Given the description of an element on the screen output the (x, y) to click on. 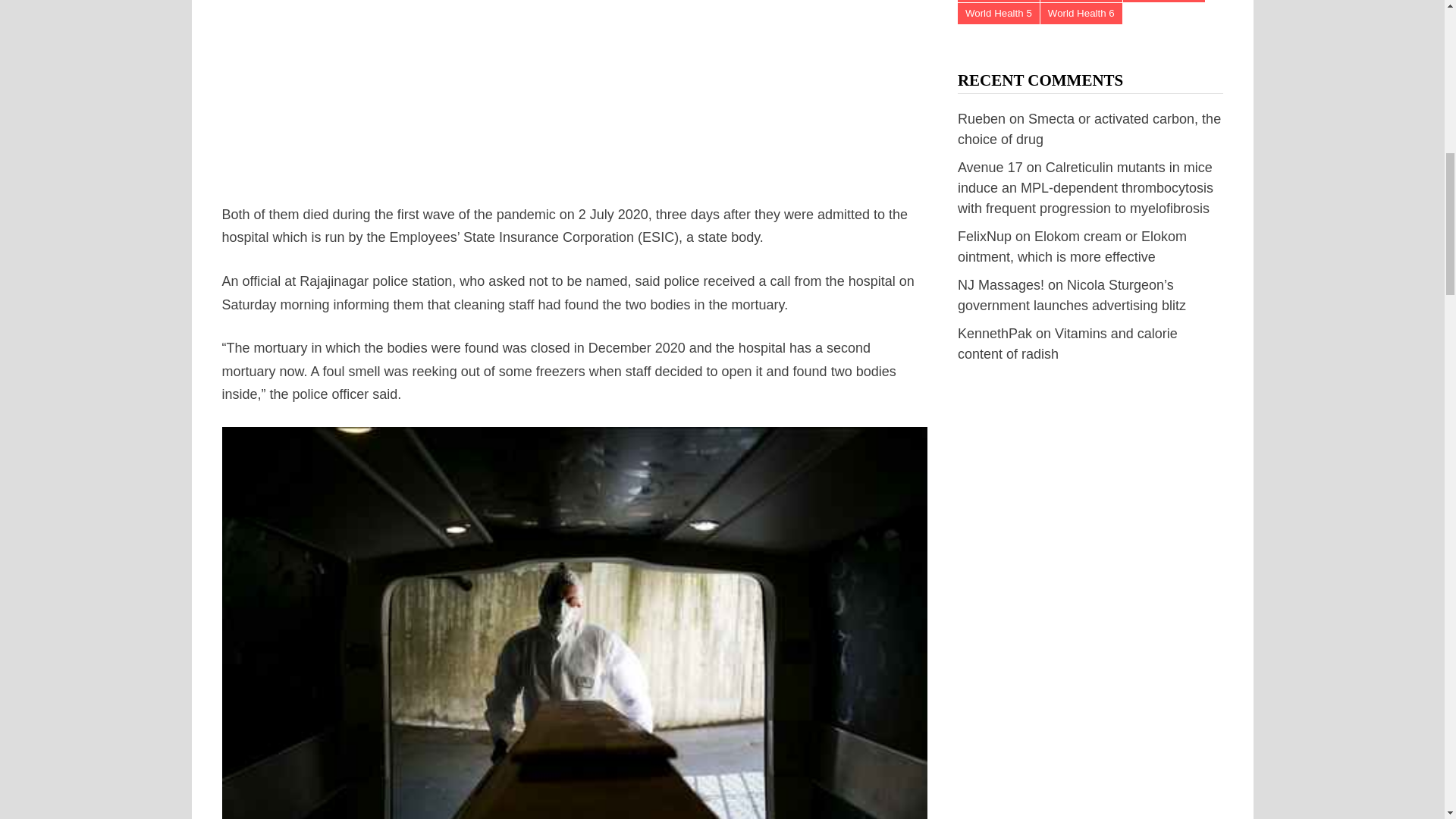
Advertisement (574, 87)
